Given the description of an element on the screen output the (x, y) to click on. 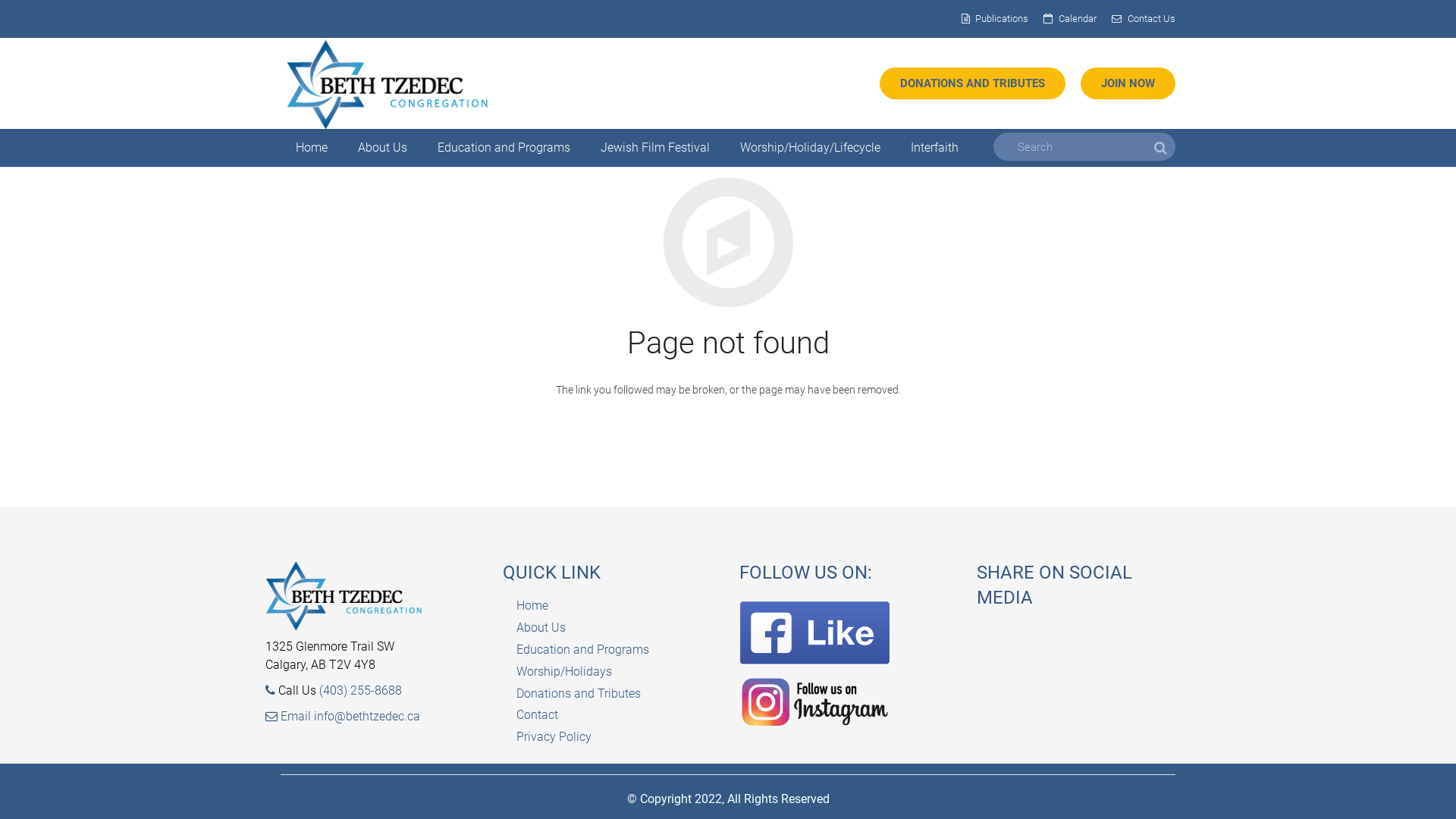
Donations and Tributes Element type: text (577, 693)
About Us Element type: text (382, 147)
JOIN NOW Element type: text (1127, 83)
(403) 255-8688 Element type: text (360, 690)
Contact Element type: text (536, 714)
Publications Element type: text (1001, 18)
About Us Element type: text (539, 627)
Education and Programs Element type: text (503, 147)
Worship/Holidays Element type: text (563, 671)
Education and Programs Element type: text (581, 649)
Worship/Holiday/Lifecycle Element type: text (809, 147)
Jewish Film Festival Element type: text (654, 147)
Interfaith Element type: text (934, 147)
Privacy Policy Element type: text (552, 736)
Email Element type: text (289, 716)
Home Element type: text (531, 605)
Contact Us Element type: text (1151, 18)
Home Element type: text (311, 147)
Calendar Element type: text (1077, 18)
info@bethtzedec.ca Element type: text (366, 716)
DONATIONS AND TRIBUTES Element type: text (972, 83)
